Given the description of an element on the screen output the (x, y) to click on. 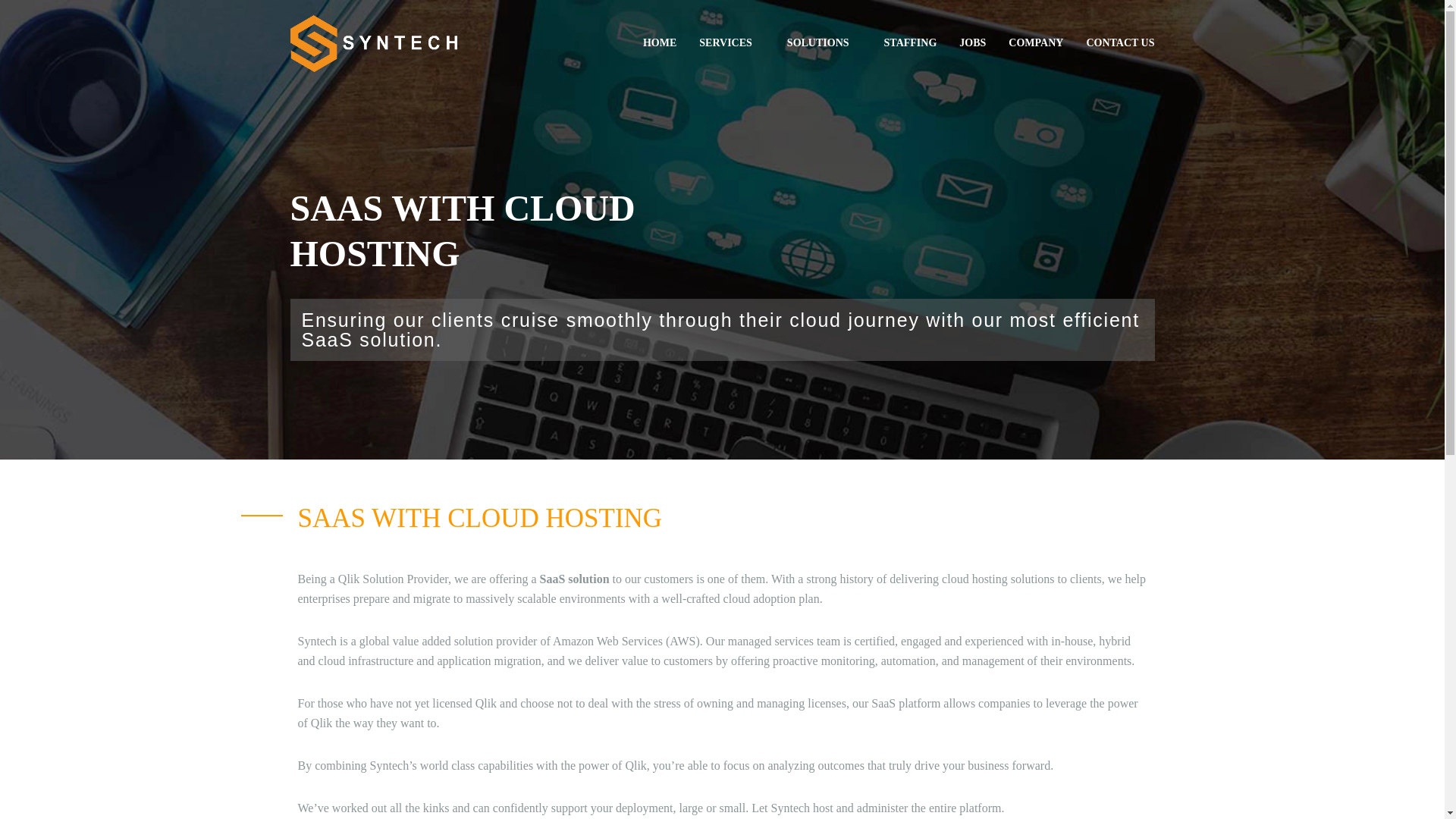
HOME (660, 42)
COMPANY (1035, 42)
SERVICES (731, 43)
STAFFING (910, 42)
CONTACT US (1120, 42)
JOBS (972, 42)
SYNTECH SOFT (373, 42)
SOLUTIONS (824, 43)
